Given the description of an element on the screen output the (x, y) to click on. 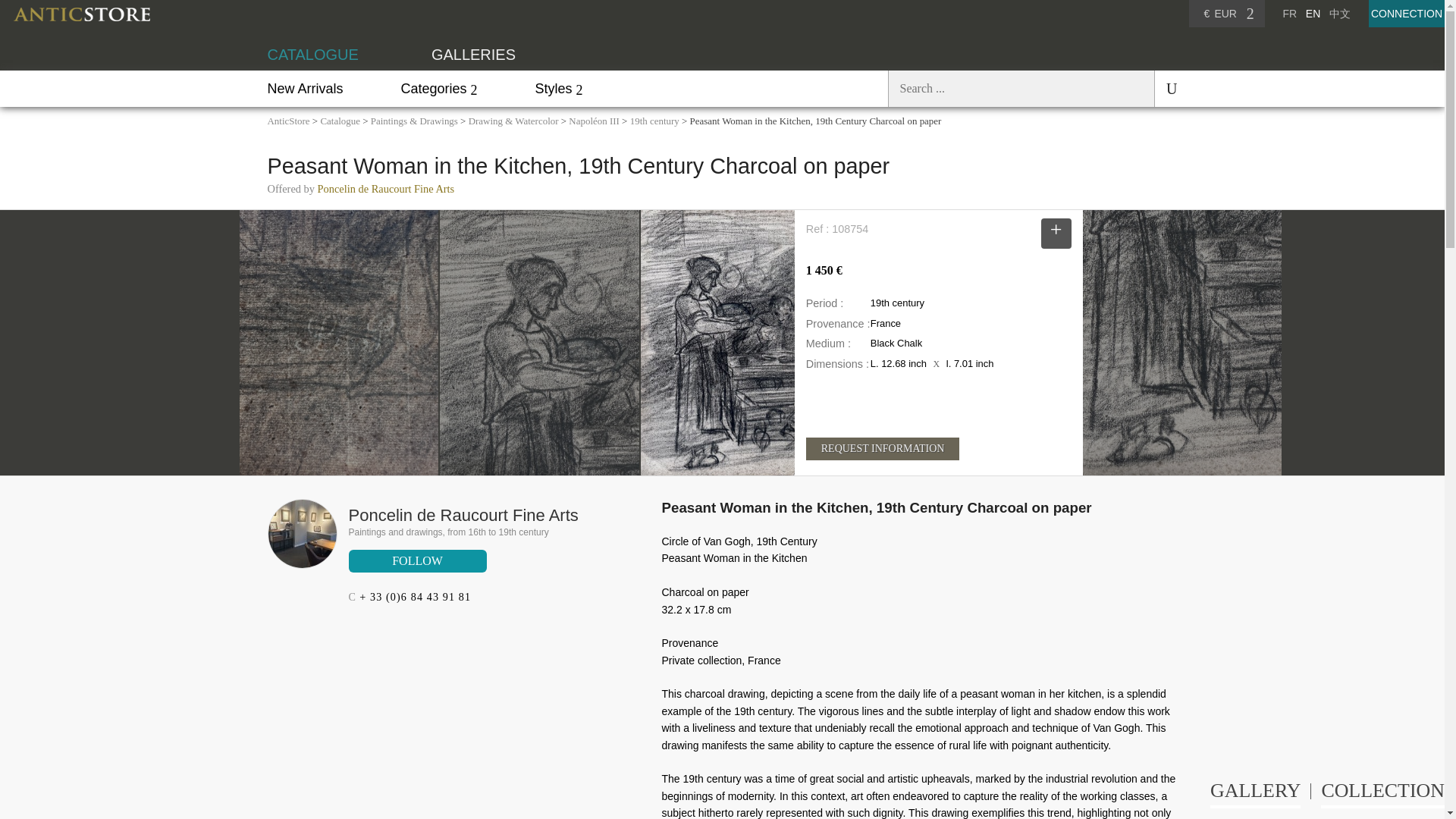
U (1165, 88)
U (1165, 88)
New Arrivals (304, 88)
U (1165, 88)
GALLERIES (472, 54)
CATALOGUE (312, 54)
FR (1289, 13)
